Given the description of an element on the screen output the (x, y) to click on. 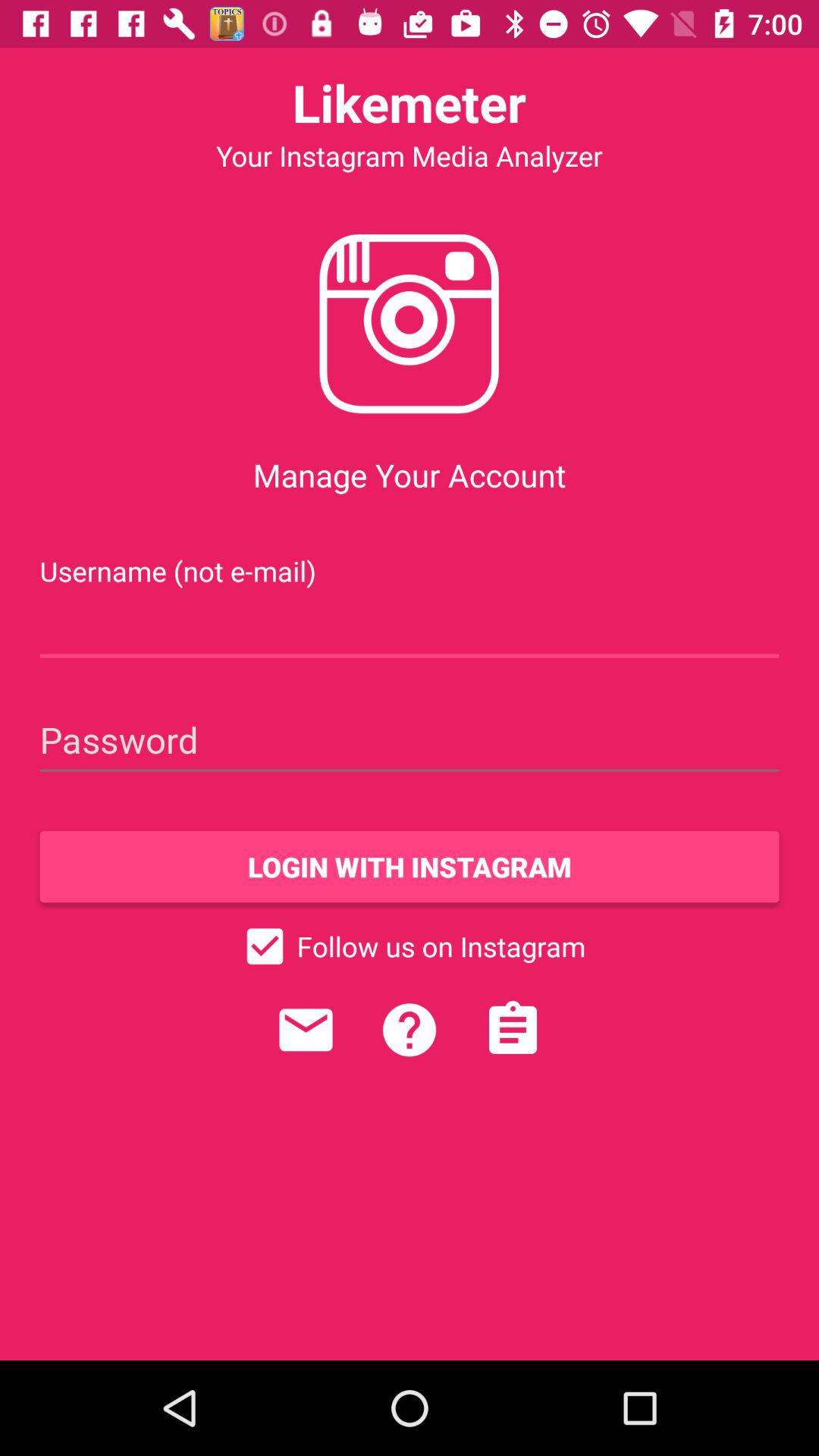
choose the login with instagram icon (409, 866)
